Given the description of an element on the screen output the (x, y) to click on. 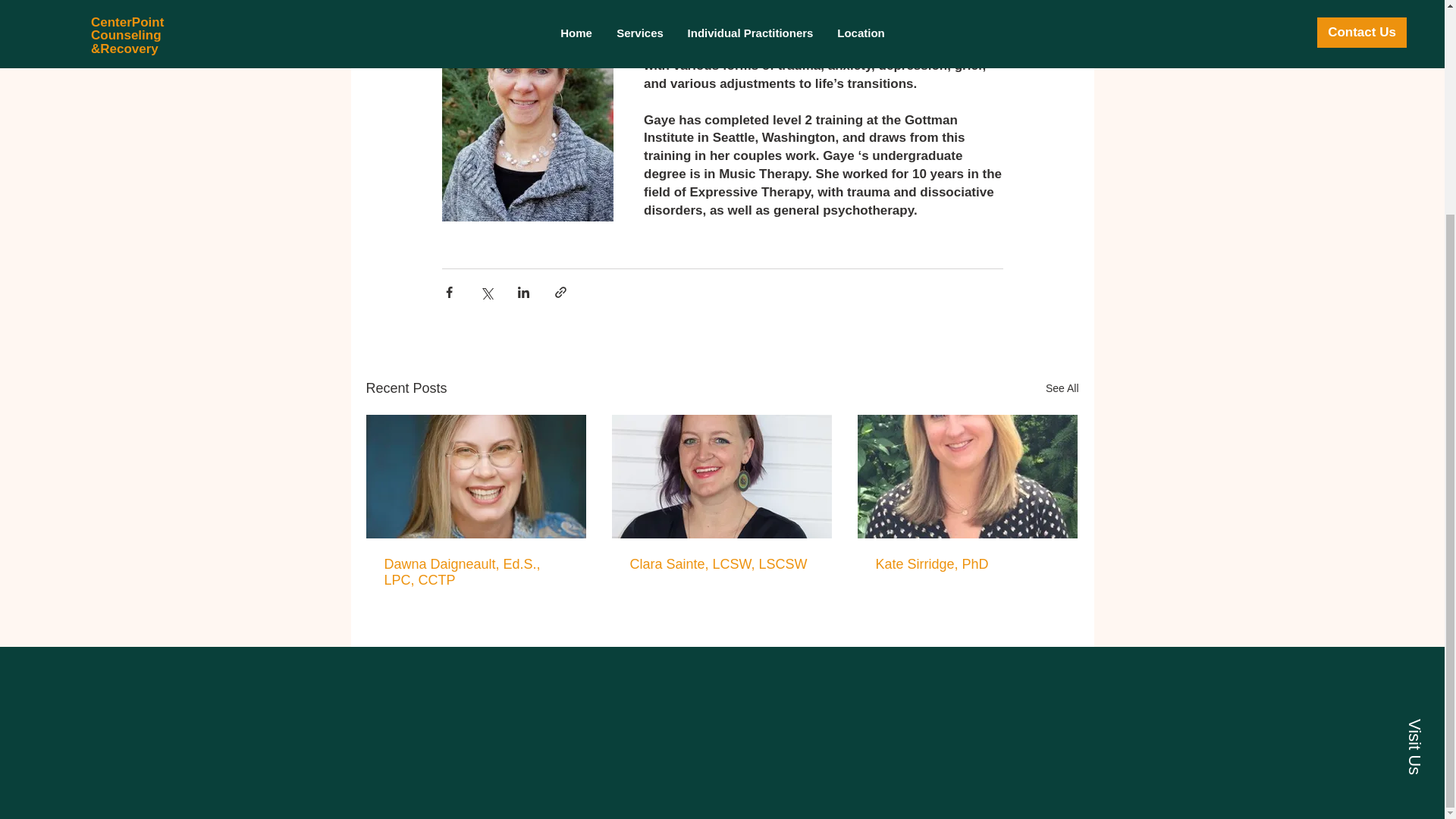
See All (1061, 388)
Dawna Daigneault, Ed.S., LPC, CCTP (475, 572)
Clara Sainte, LCSW, LSCSW (720, 564)
Kate Sirridge, PhD (966, 564)
